Given the description of an element on the screen output the (x, y) to click on. 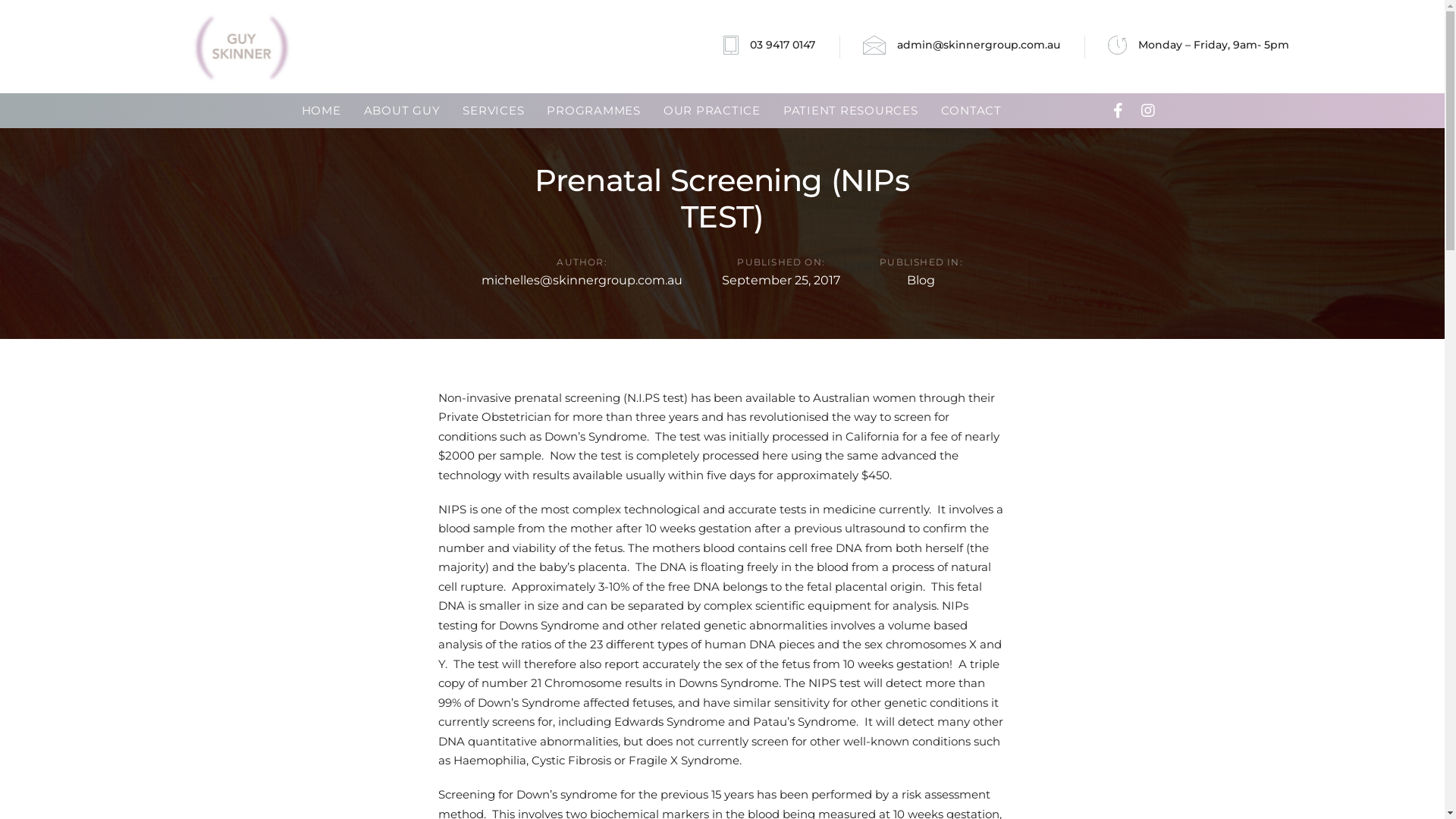
PATIENT RESOURCES Element type: text (850, 110)
Blog Element type: text (920, 280)
CONTACT Element type: text (971, 110)
September 25, 2017 Element type: text (780, 280)
HOME Element type: text (320, 110)
michelles@skinnergroup.com.au Element type: text (581, 280)
OUR PRACTICE Element type: text (711, 110)
ABOUT GUY Element type: text (401, 110)
SERVICES Element type: text (493, 110)
PROGRAMMES Element type: text (593, 110)
